Given the description of an element on the screen output the (x, y) to click on. 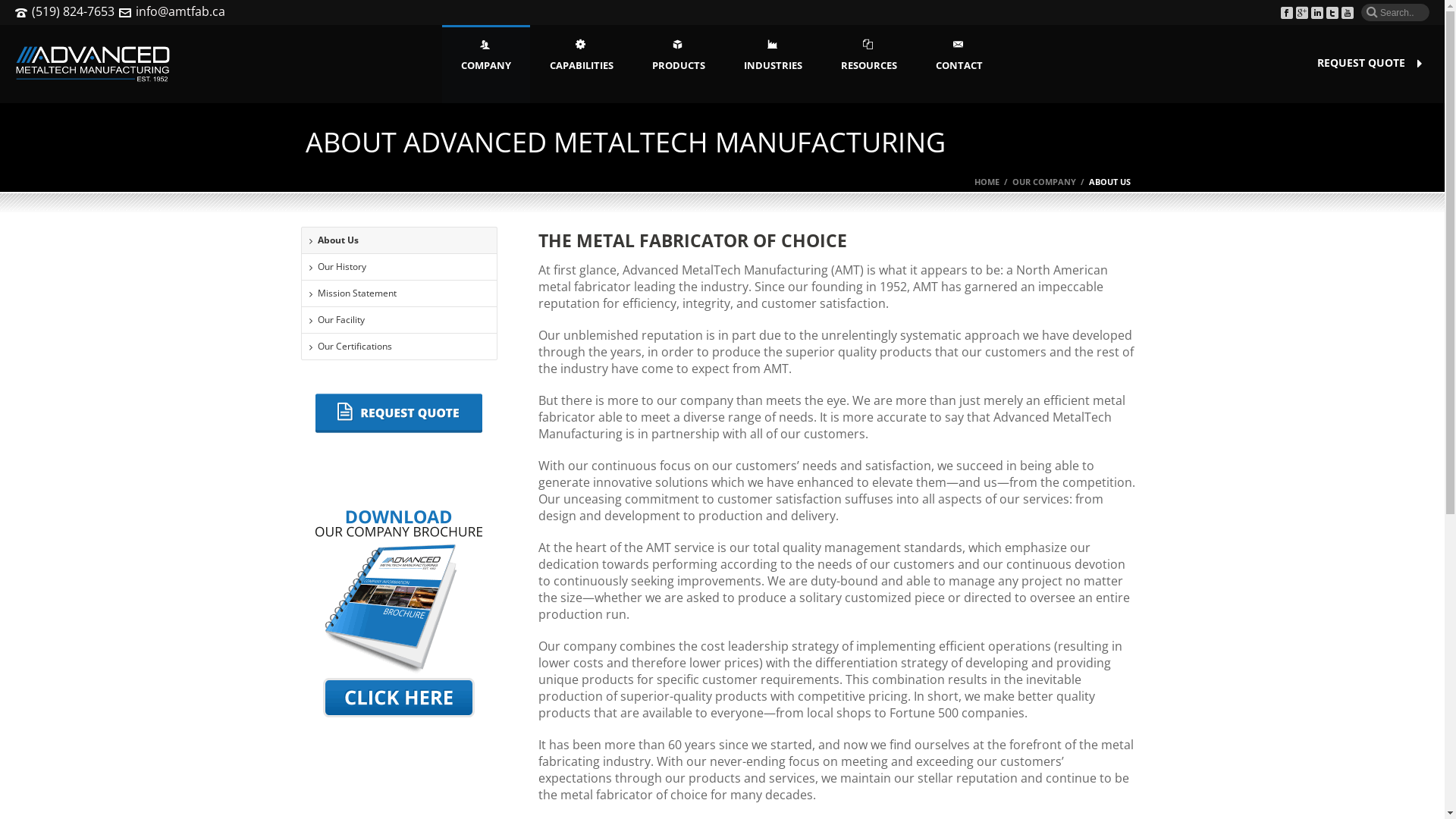
Our History Element type: text (399, 266)
CONTACT Element type: text (958, 64)
Our Certifications Element type: text (399, 346)
COMPANY Element type: text (486, 64)
info@amtfab.ca Element type: text (180, 11)
OUR COMPANY Element type: text (1043, 181)
RESOURCES Element type: text (869, 64)
googleplus Element type: hover (1301, 13)
PRODUCTS Element type: text (678, 64)
linkedin Element type: hover (1317, 13)
Advanced MetalTech Manufacturing Element type: hover (92, 64)
CAPABILITIES Element type: text (581, 64)
facebook Element type: hover (1286, 13)
REQUEST QUOTE Element type: text (1361, 62)
Our Facility Element type: text (399, 319)
Metal Manufacturing Fabrication Brochure Element type: hover (398, 613)
HOME Element type: text (985, 181)
Mission Statement Element type: text (399, 293)
INDUSTRIES Element type: text (772, 64)
youtube Element type: hover (1347, 13)
About Us Element type: text (399, 240)
twitter Element type: hover (1332, 13)
